Given the description of an element on the screen output the (x, y) to click on. 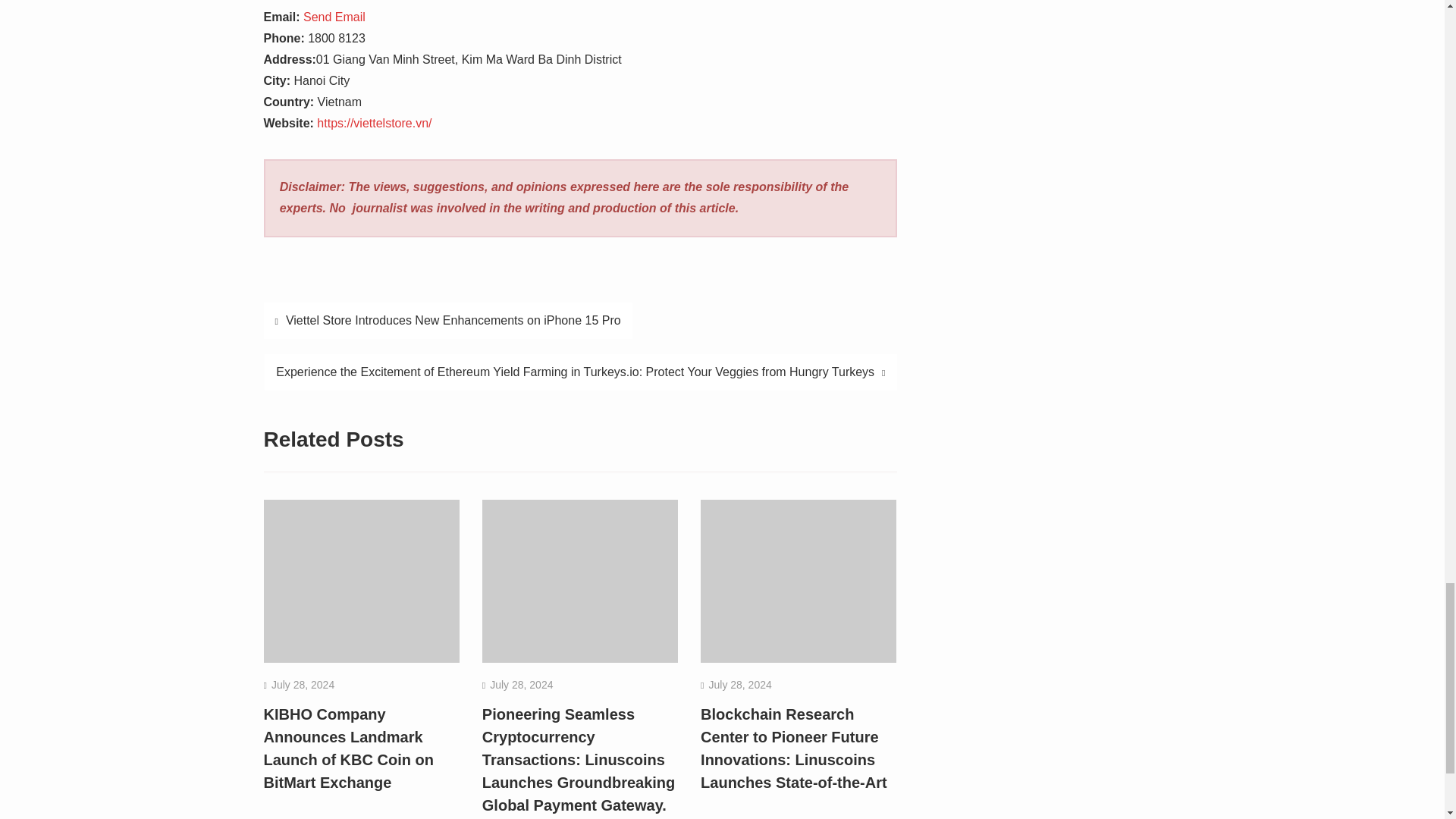
Send Email (333, 16)
